Given the description of an element on the screen output the (x, y) to click on. 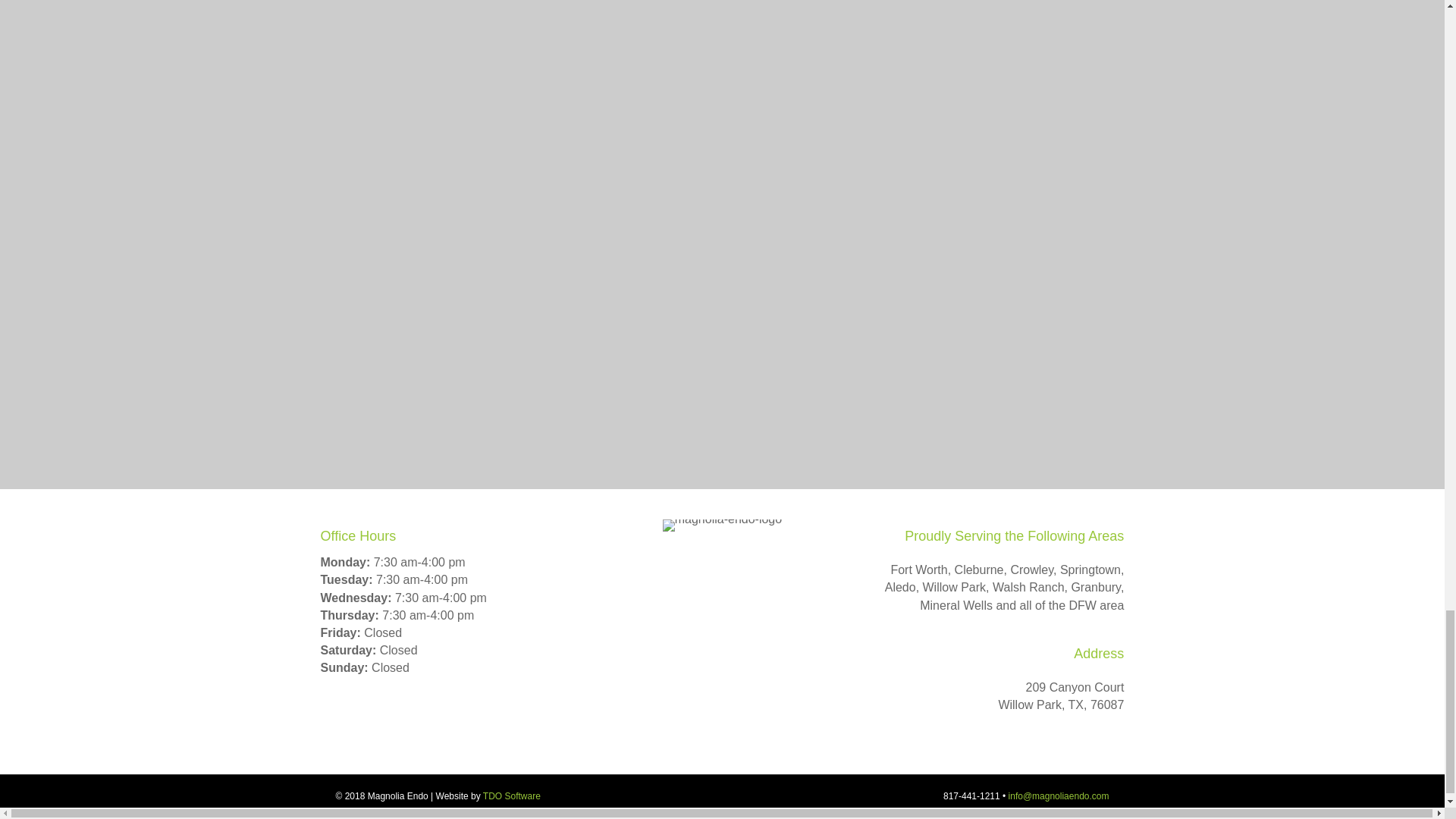
TDO Software (511, 796)
